Given the description of an element on the screen output the (x, y) to click on. 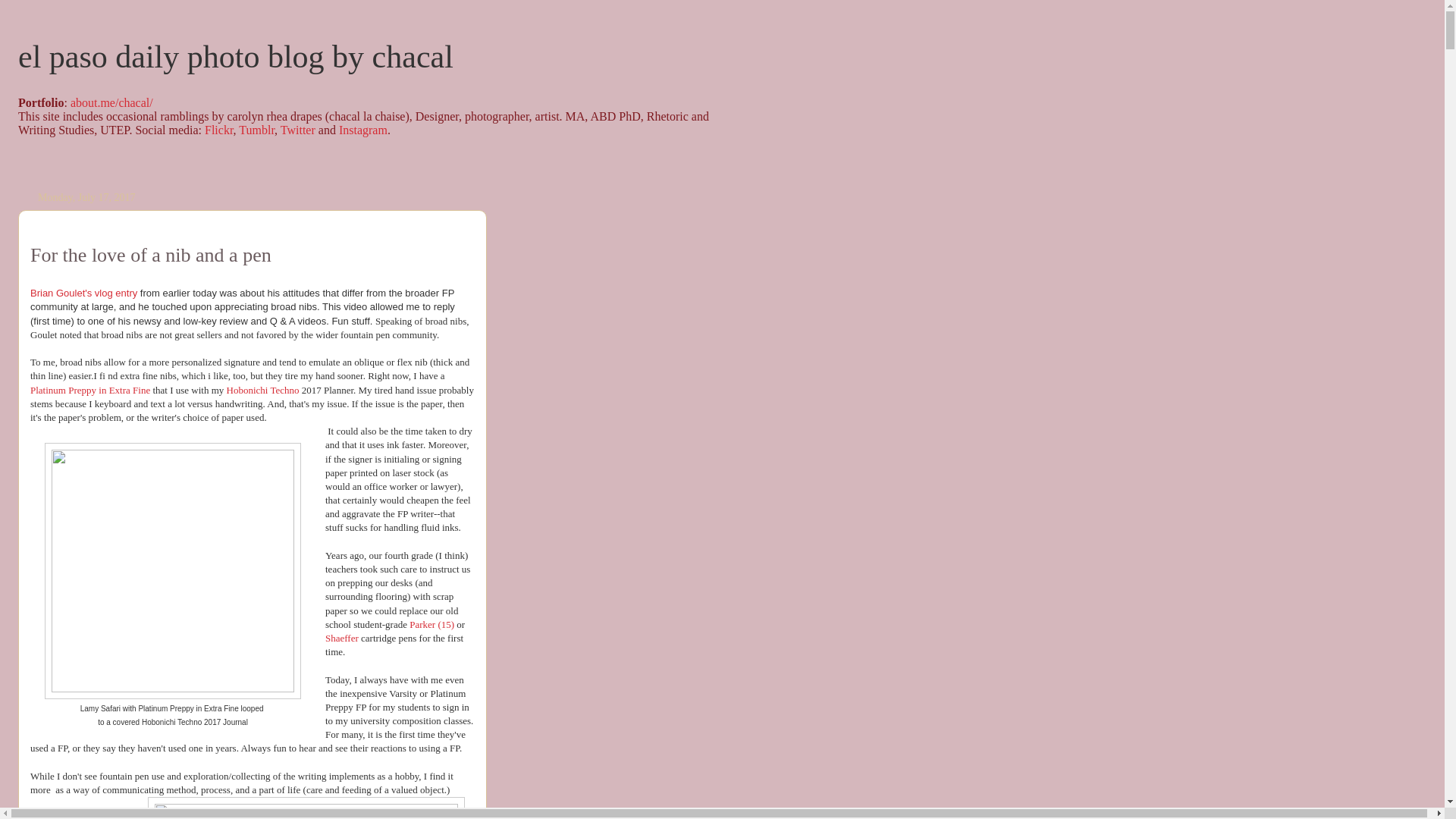
Instagram (363, 129)
Brian Goulet's vlog entry (83, 292)
el paso daily photo blog by chacal (234, 56)
Tumblr (256, 129)
Shaeffer (341, 637)
Twitter (298, 129)
Hobonichi Techno (263, 389)
Platinum Preppy in Extra Fine (89, 389)
Flickr (218, 129)
